Given the description of an element on the screen output the (x, y) to click on. 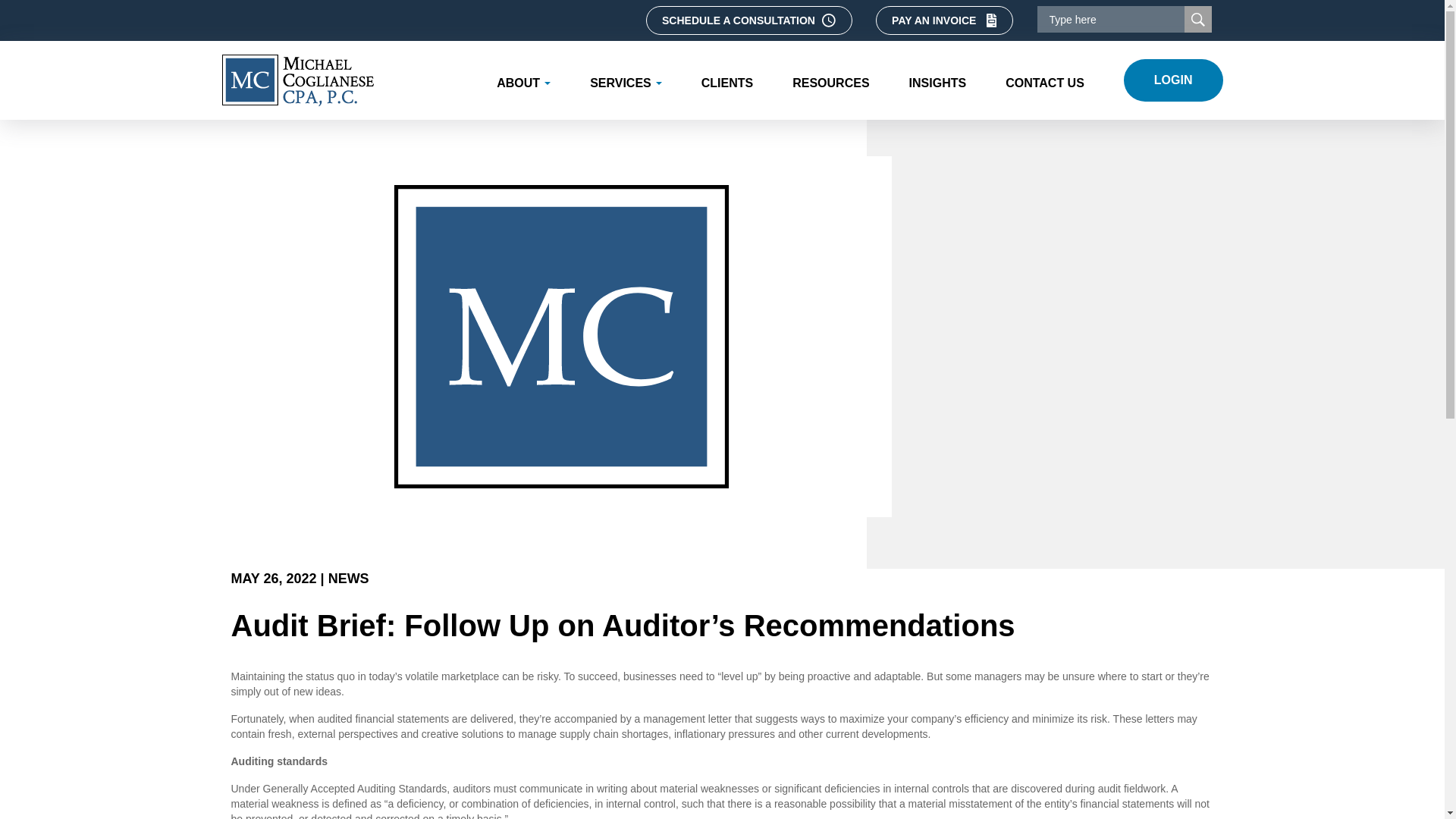
INSIGHTS (938, 79)
CONTACT US (1044, 79)
SCHEDULE A CONSULTATION (748, 20)
CLIENTS (727, 79)
logo-michael-coglianese (296, 80)
PAY AN INVOICE (944, 20)
SERVICES (625, 79)
ABOUT (523, 79)
LOGIN (1173, 79)
RESOURCES (830, 79)
